Given the description of an element on the screen output the (x, y) to click on. 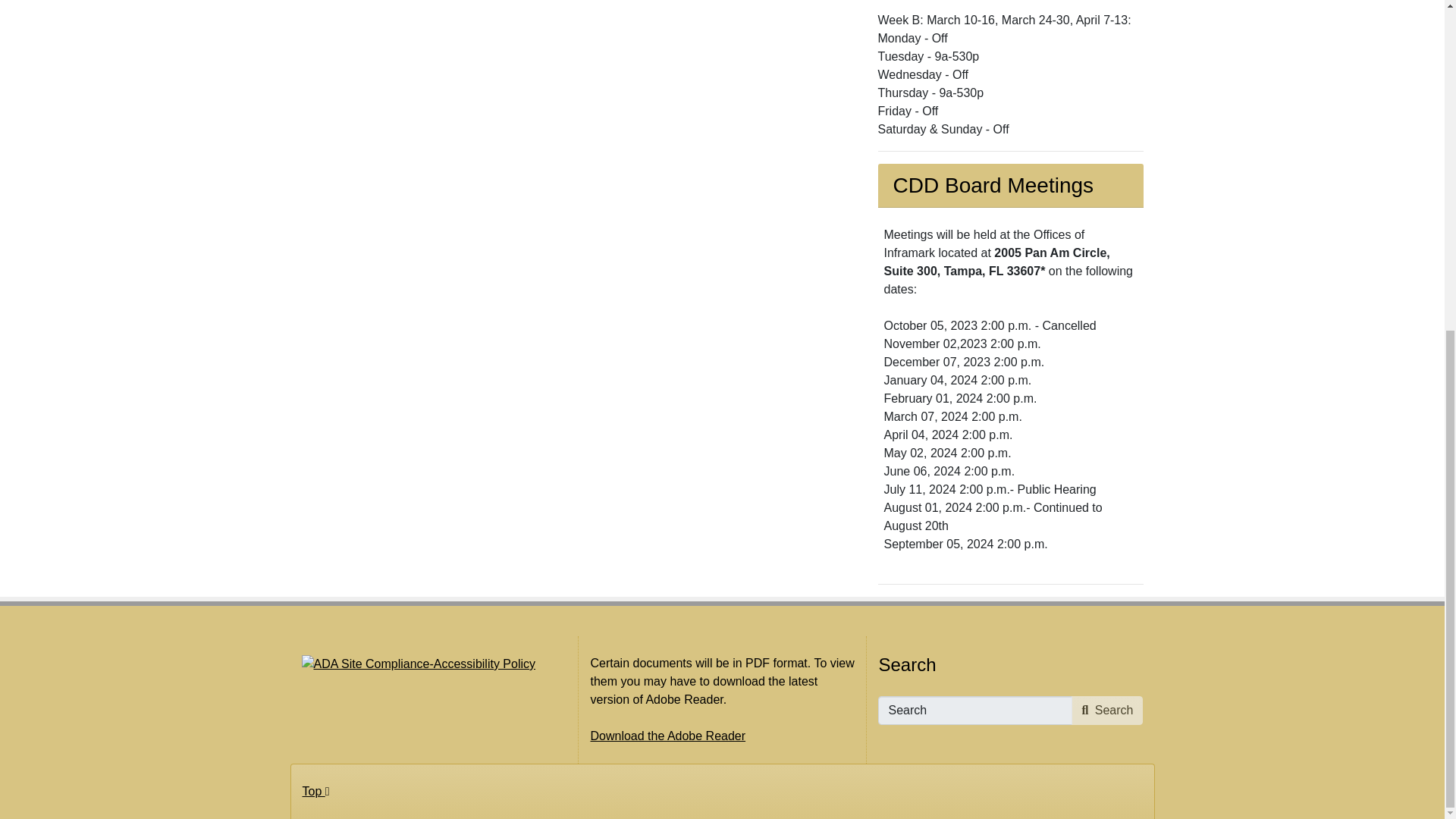
Click to navigate back to top of page (316, 791)
Top (316, 791)
Download the Adobe Reader (667, 735)
Search (1106, 710)
